Given the description of an element on the screen output the (x, y) to click on. 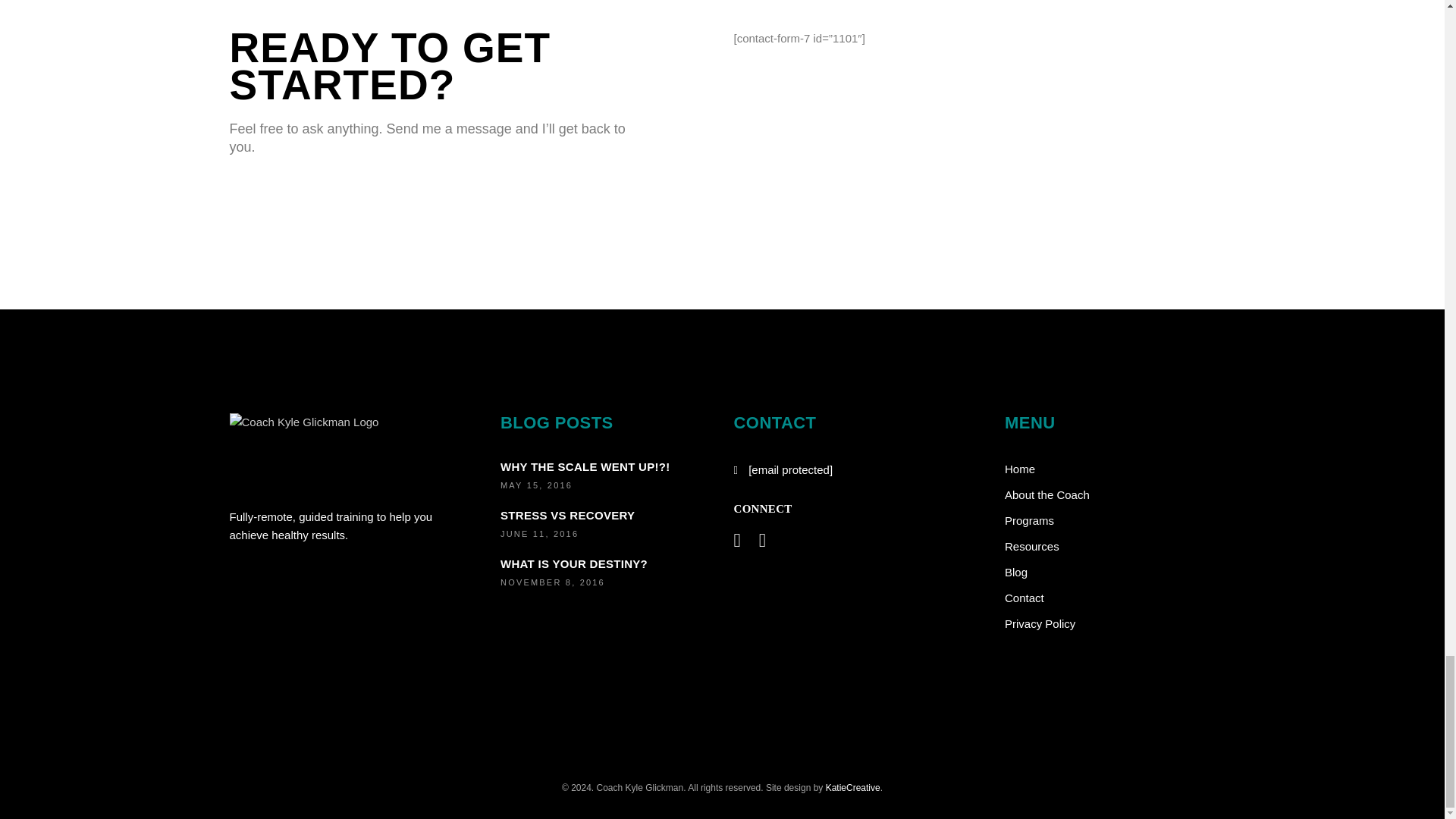
What is your Destiny? (573, 563)
STRESS VS RECOVERY (567, 514)
Why The Scale Went Up!?! (584, 466)
MAY 15, 2016 (536, 484)
WHY THE SCALE WENT UP!?! (584, 466)
Stress vs Recovery (567, 514)
